Given the description of an element on the screen output the (x, y) to click on. 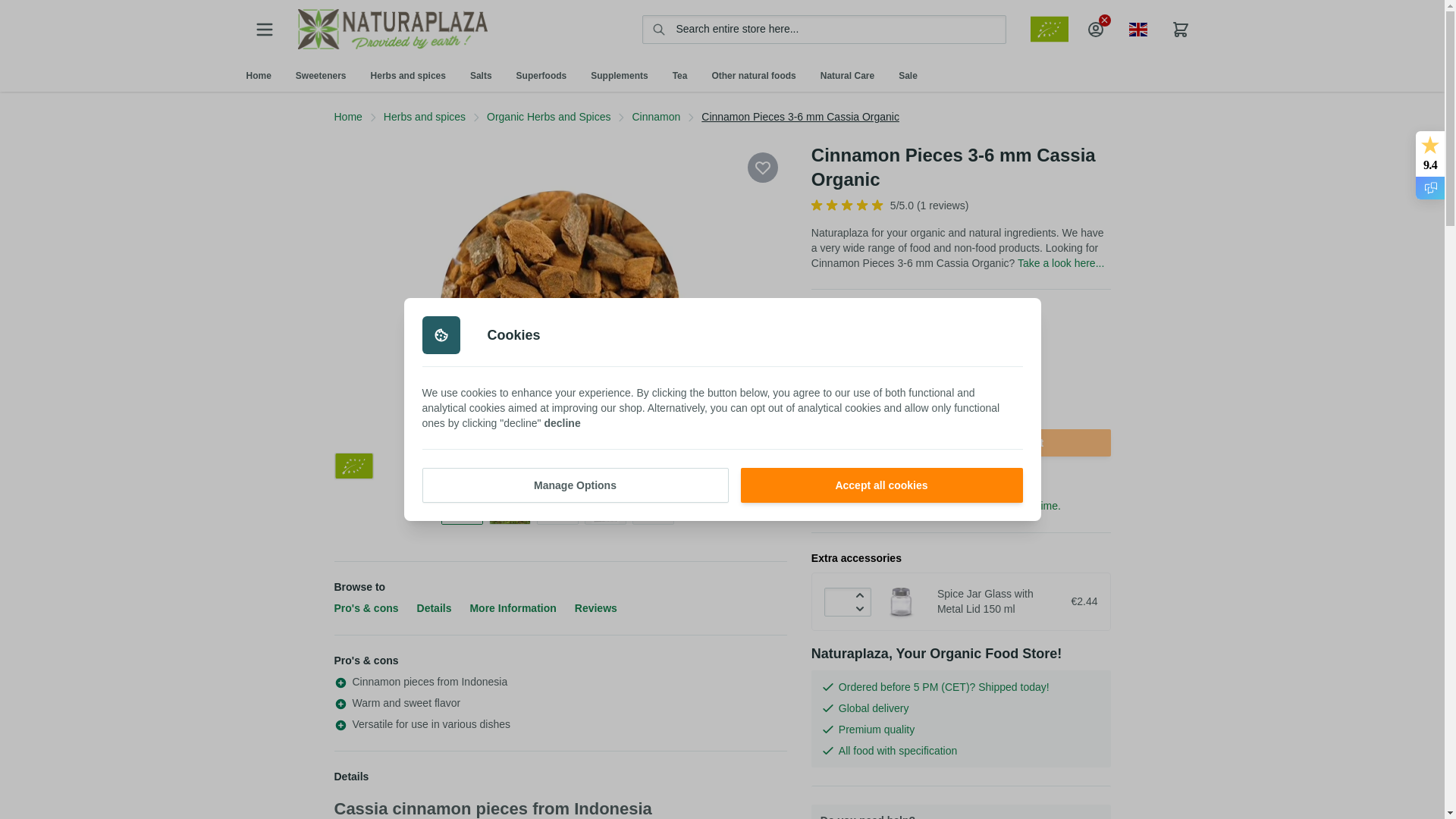
5704 (888, 342)
Sweeteners (320, 75)
Cart (1179, 29)
Home (257, 75)
Naturaplaza (391, 29)
5869 (937, 342)
Sweeteners (320, 75)
5719 (837, 342)
Home (257, 75)
5811 (988, 342)
Herbs and spices (408, 75)
Herbs and spices (408, 75)
